Given the description of an element on the screen output the (x, y) to click on. 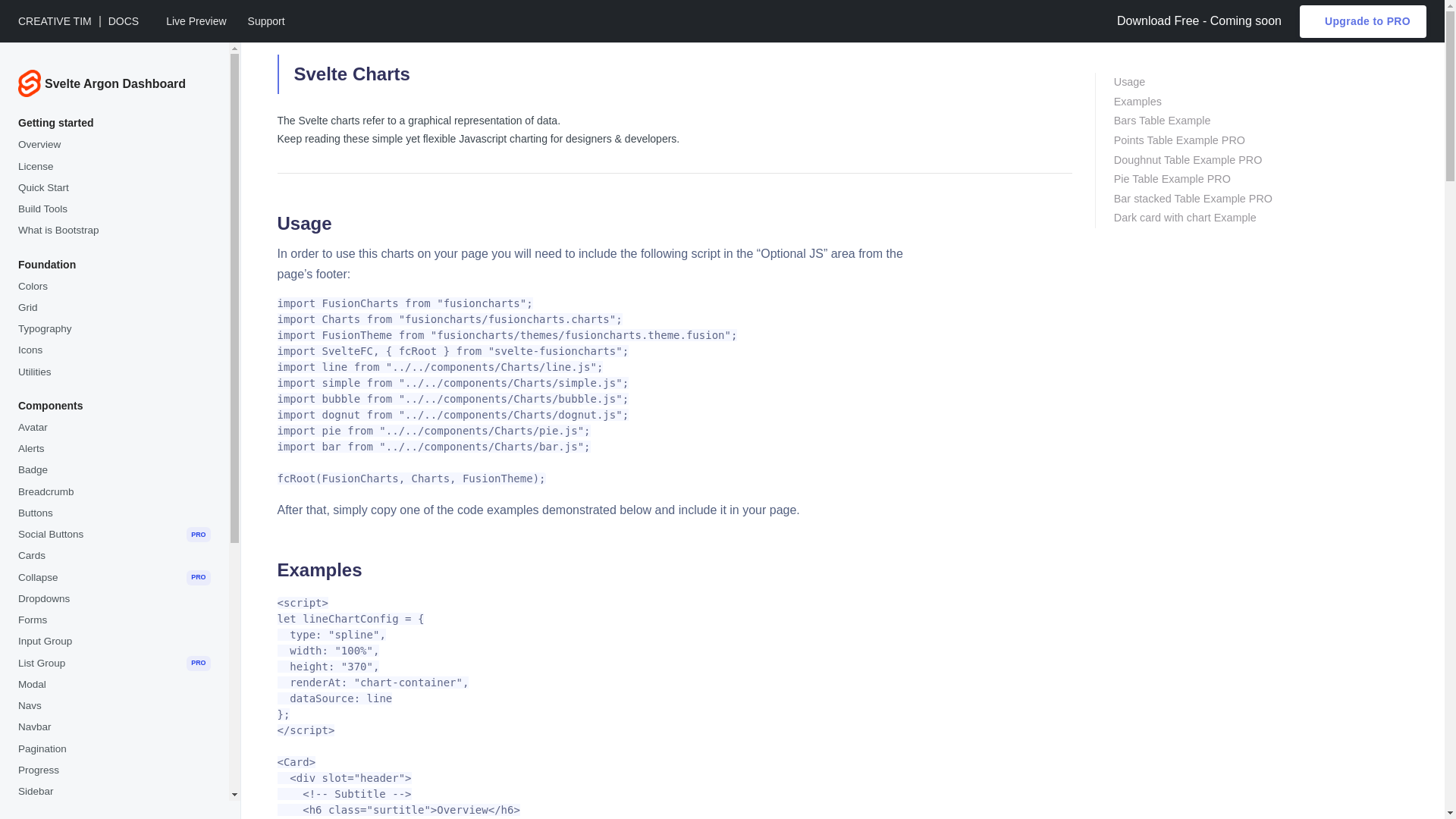
Upgrade to PRO (1363, 20)
Foundation (114, 264)
Navbar (114, 726)
Forms (114, 619)
Modal (114, 684)
What is Bootstrap (114, 230)
Buttons (114, 513)
Live Preview (194, 21)
Badge (114, 469)
CREATIVE TIM (54, 21)
